Given the description of an element on the screen output the (x, y) to click on. 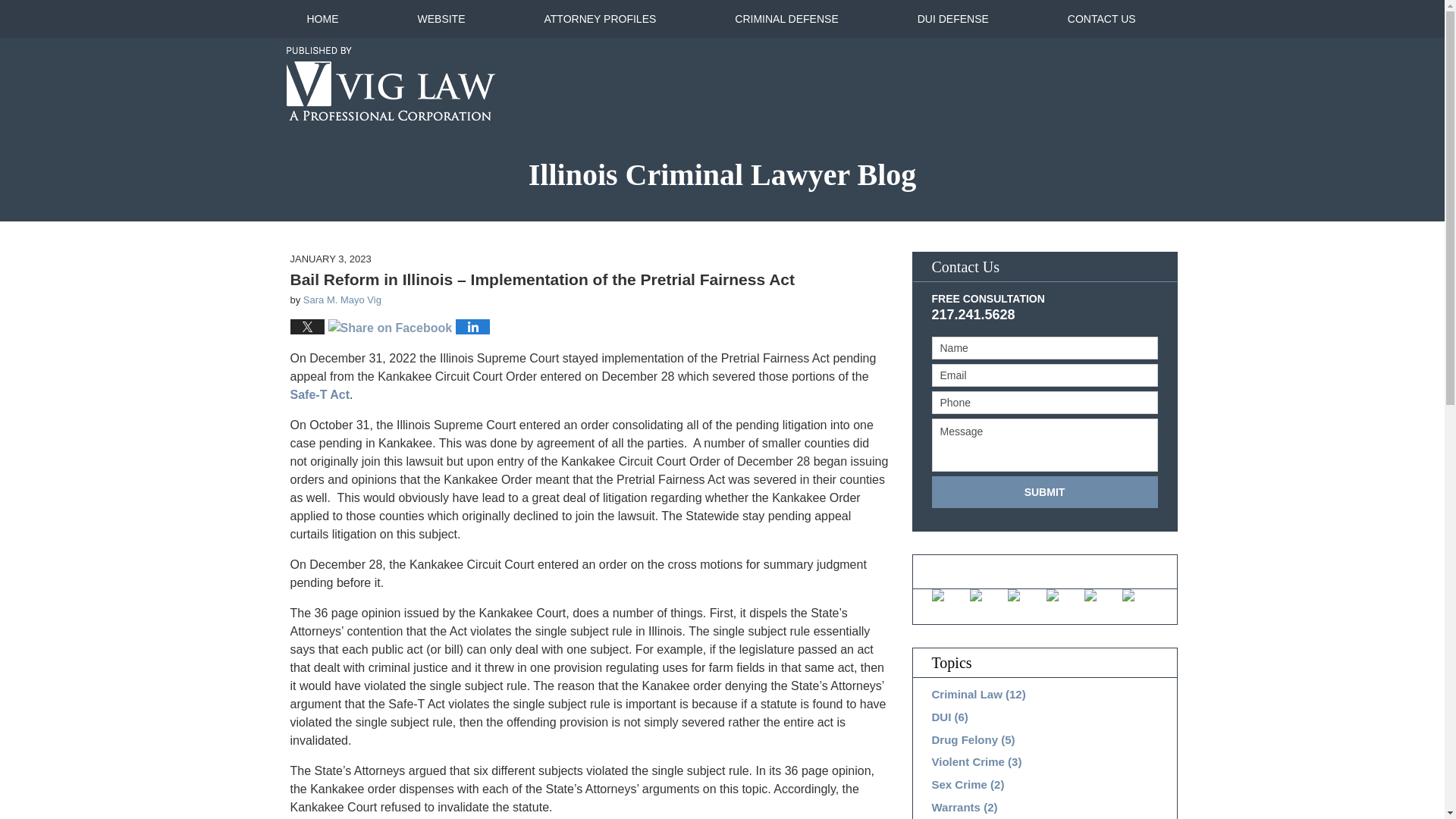
Facebook (948, 594)
Safe-T Act (319, 394)
Justia (1063, 594)
CRIMINAL DEFENSE (786, 18)
Please enter a valid phone number. (1044, 402)
ATTORNEY PROFILES (600, 18)
Illinois Criminal Lawyer Blog (722, 180)
Illinois Criminal Lawyer Blog (390, 83)
HOME (321, 18)
Published By Vig Law, P.C. (1025, 83)
WEBSITE (440, 18)
Sara M. Mayo Vig (341, 299)
DUI DEFENSE (952, 18)
LinkedIn (1024, 594)
SUBMIT (1044, 491)
